Given the description of an element on the screen output the (x, y) to click on. 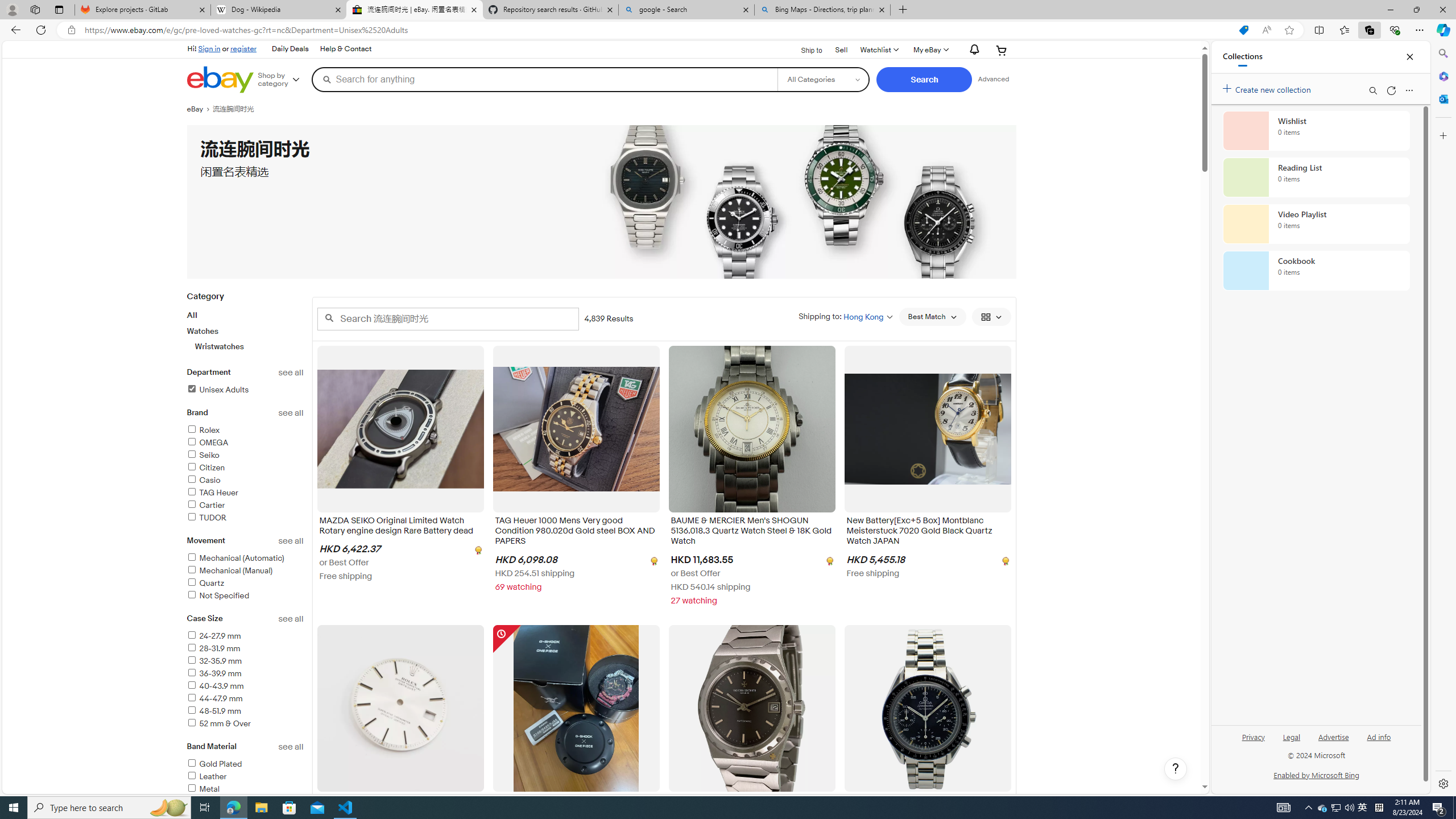
eBay (199, 108)
32-35.9 mm (213, 660)
Mechanical (Manual) (229, 570)
52 mm & Over (245, 724)
register (243, 48)
See all brand refinements (291, 412)
Mechanical (Automatic) (245, 558)
